Given the description of an element on the screen output the (x, y) to click on. 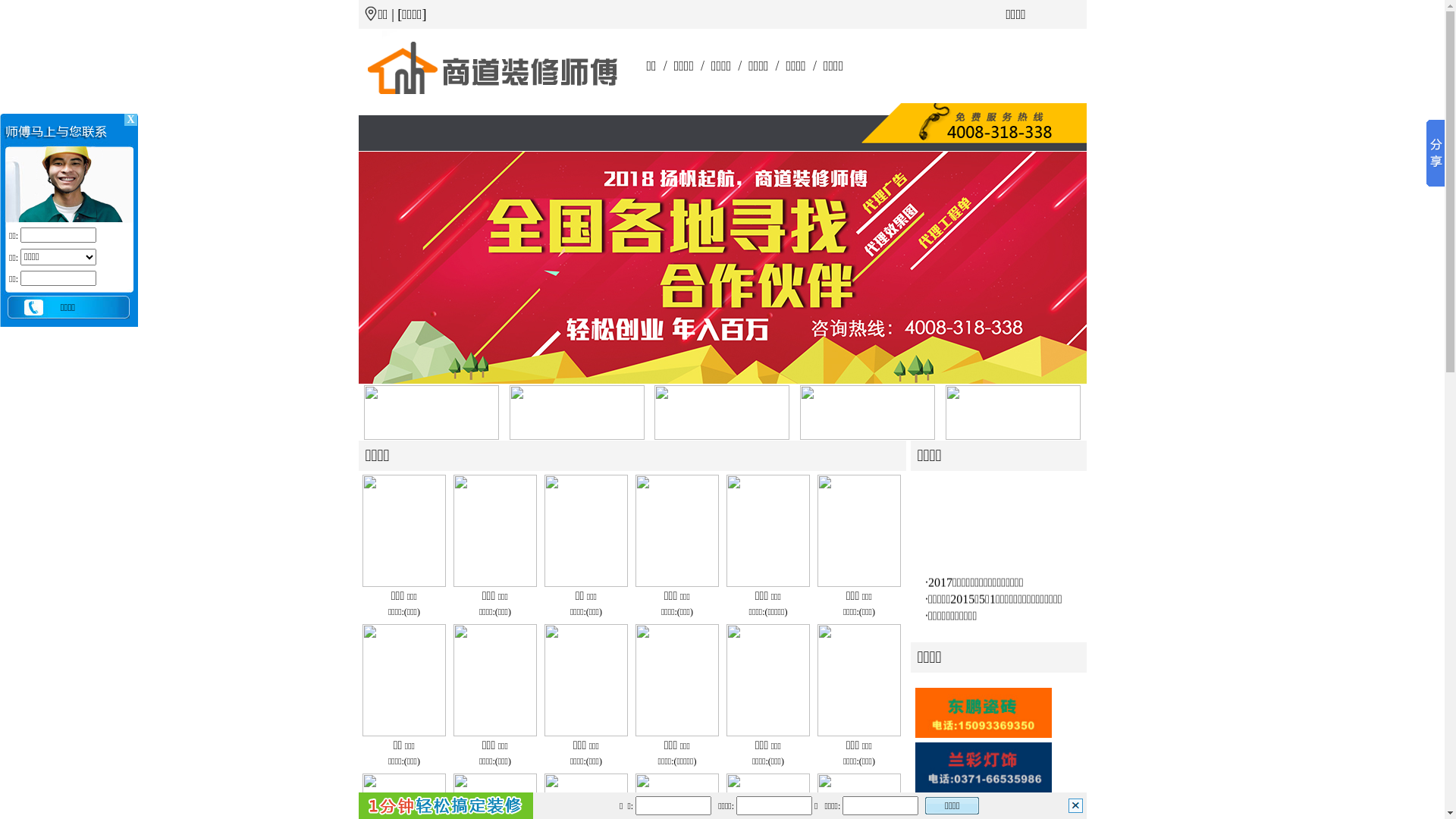
 X  Element type: text (130, 119)
